Given the description of an element on the screen output the (x, y) to click on. 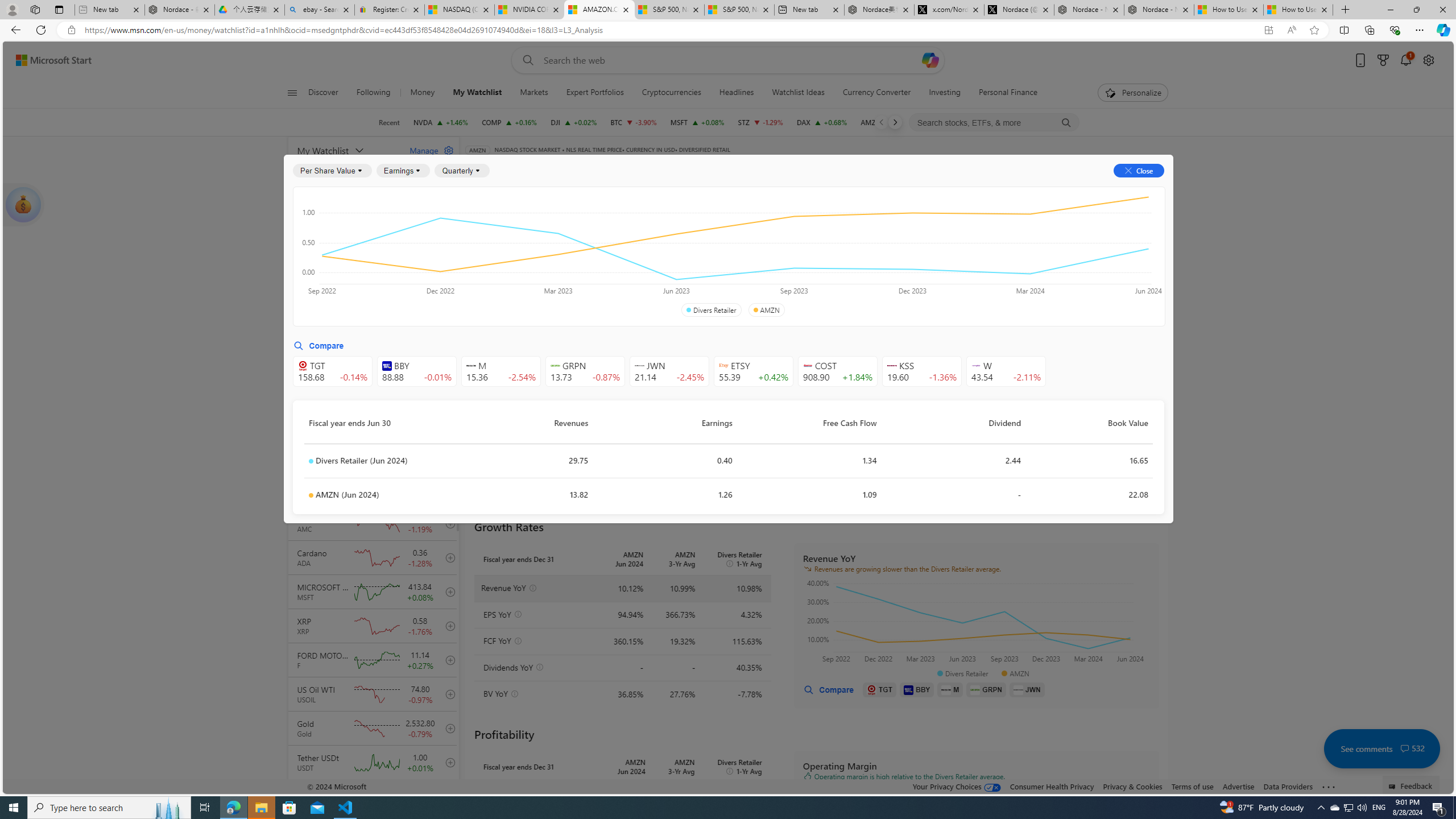
Terms of use (1192, 785)
Discover (322, 92)
Watchlist Ideas (797, 92)
Personal Finance (1003, 92)
Money (422, 92)
See more (1328, 787)
Cryptocurrencies (671, 92)
App available. Install Start Money (1268, 29)
Markets (533, 92)
My Watchlist (477, 92)
BBY (916, 689)
Options (1123, 188)
